Given the description of an element on the screen output the (x, y) to click on. 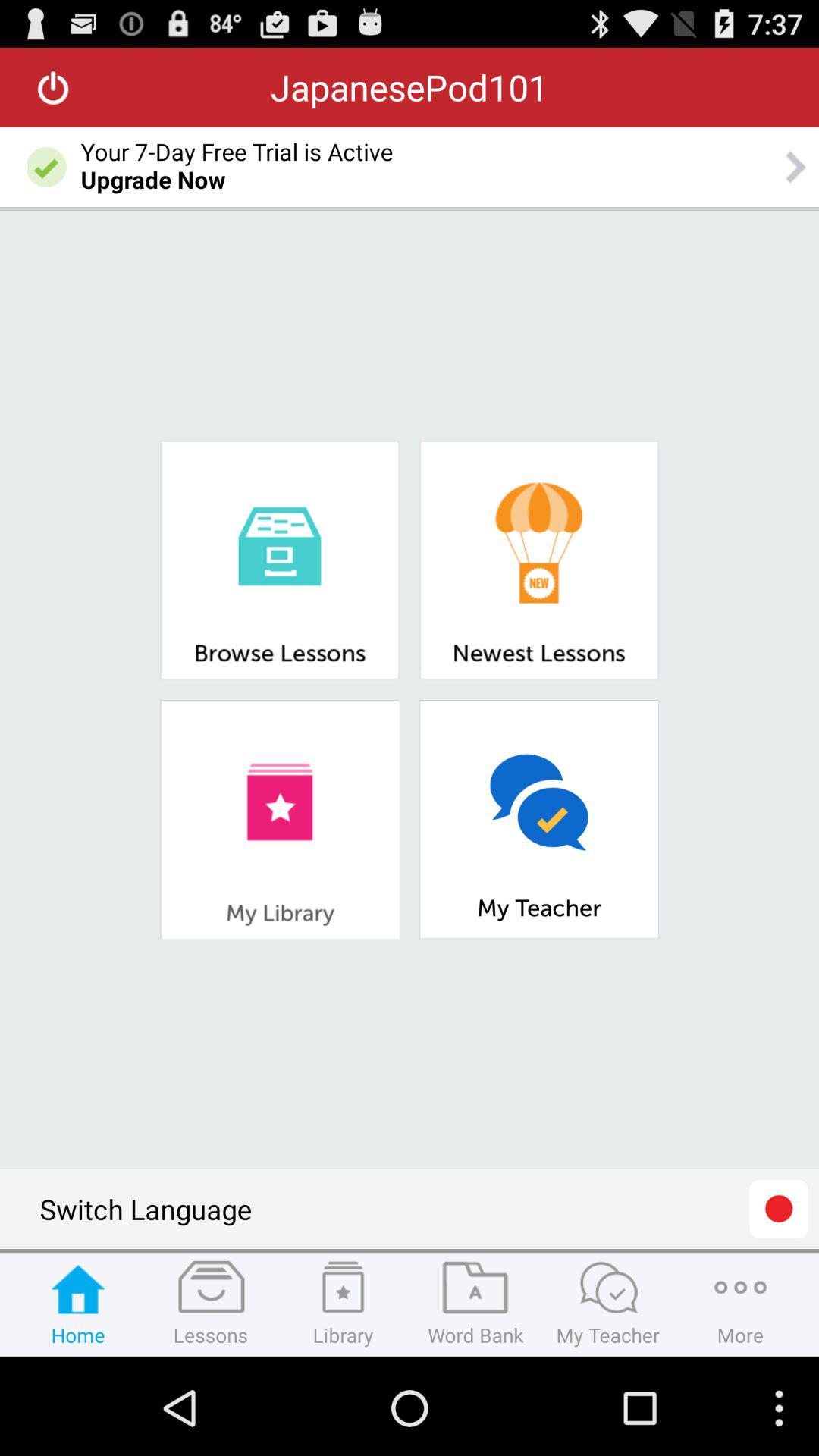
select the icon to the left of the japanesepod101 (53, 87)
